Given the description of an element on the screen output the (x, y) to click on. 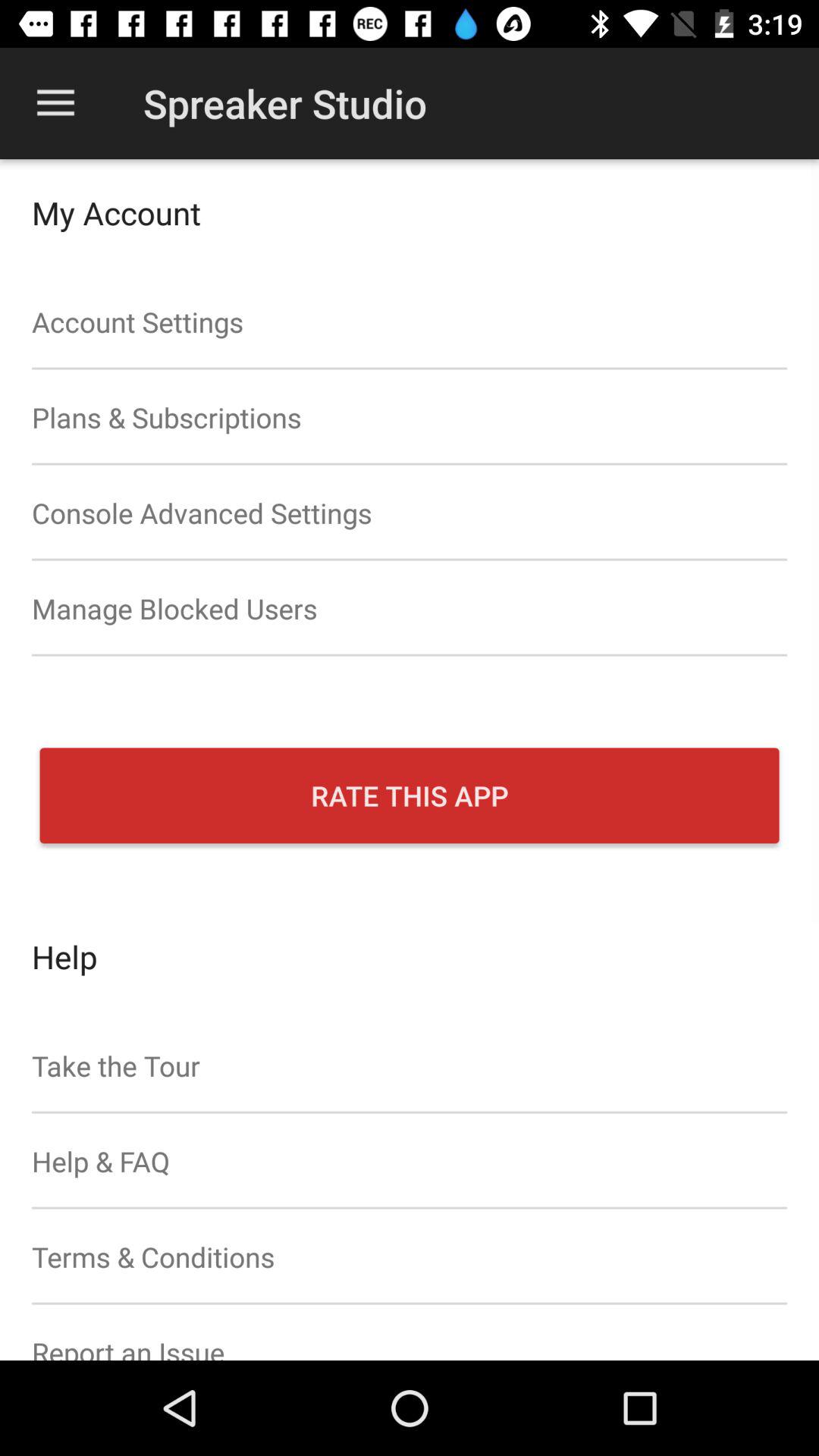
tap the app to the left of spreaker studio item (55, 103)
